Given the description of an element on the screen output the (x, y) to click on. 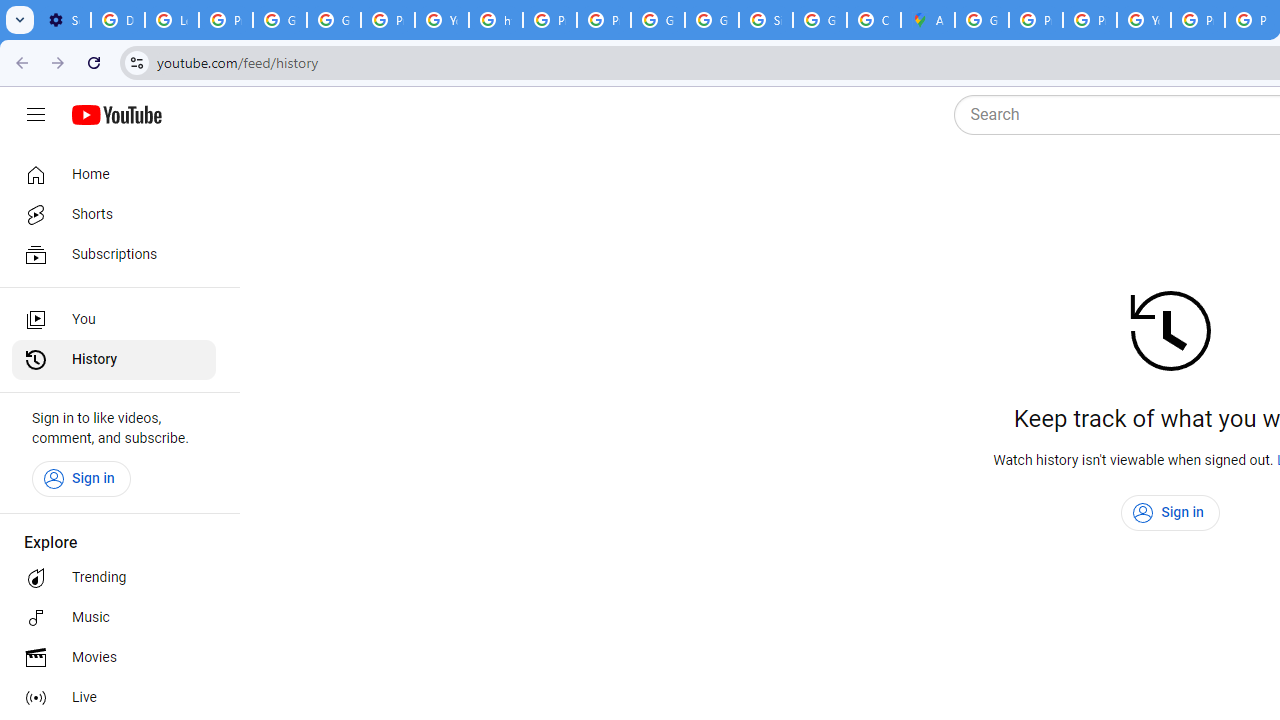
Settings - On startup (63, 20)
Trending (113, 578)
Create your Google Account (874, 20)
Subscriptions (113, 254)
Music (113, 617)
Privacy Help Center - Policies Help (550, 20)
Privacy Help Center - Policies Help (1035, 20)
Shorts (113, 214)
